Given the description of an element on the screen output the (x, y) to click on. 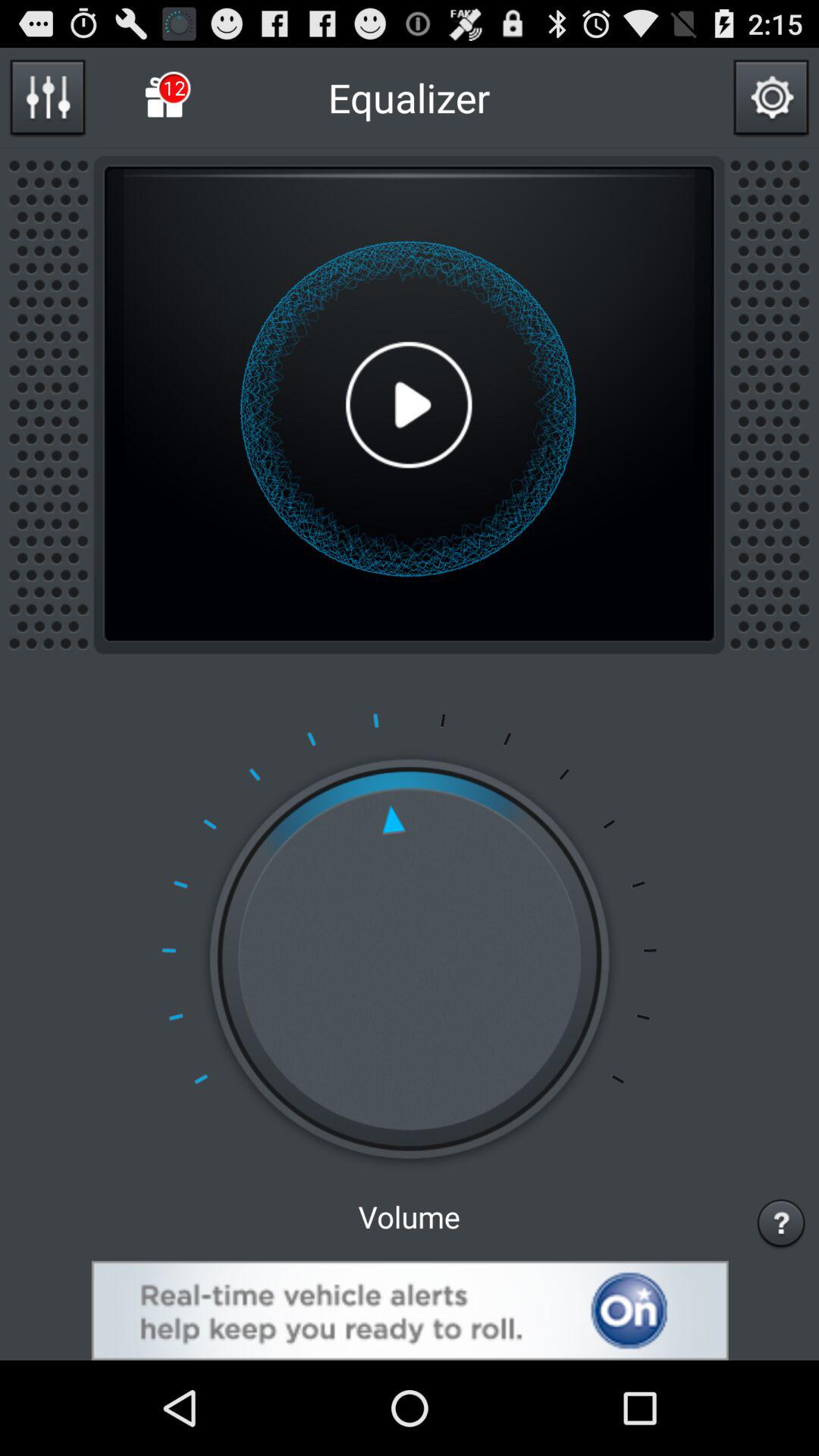
for help (781, 1222)
